Given the description of an element on the screen output the (x, y) to click on. 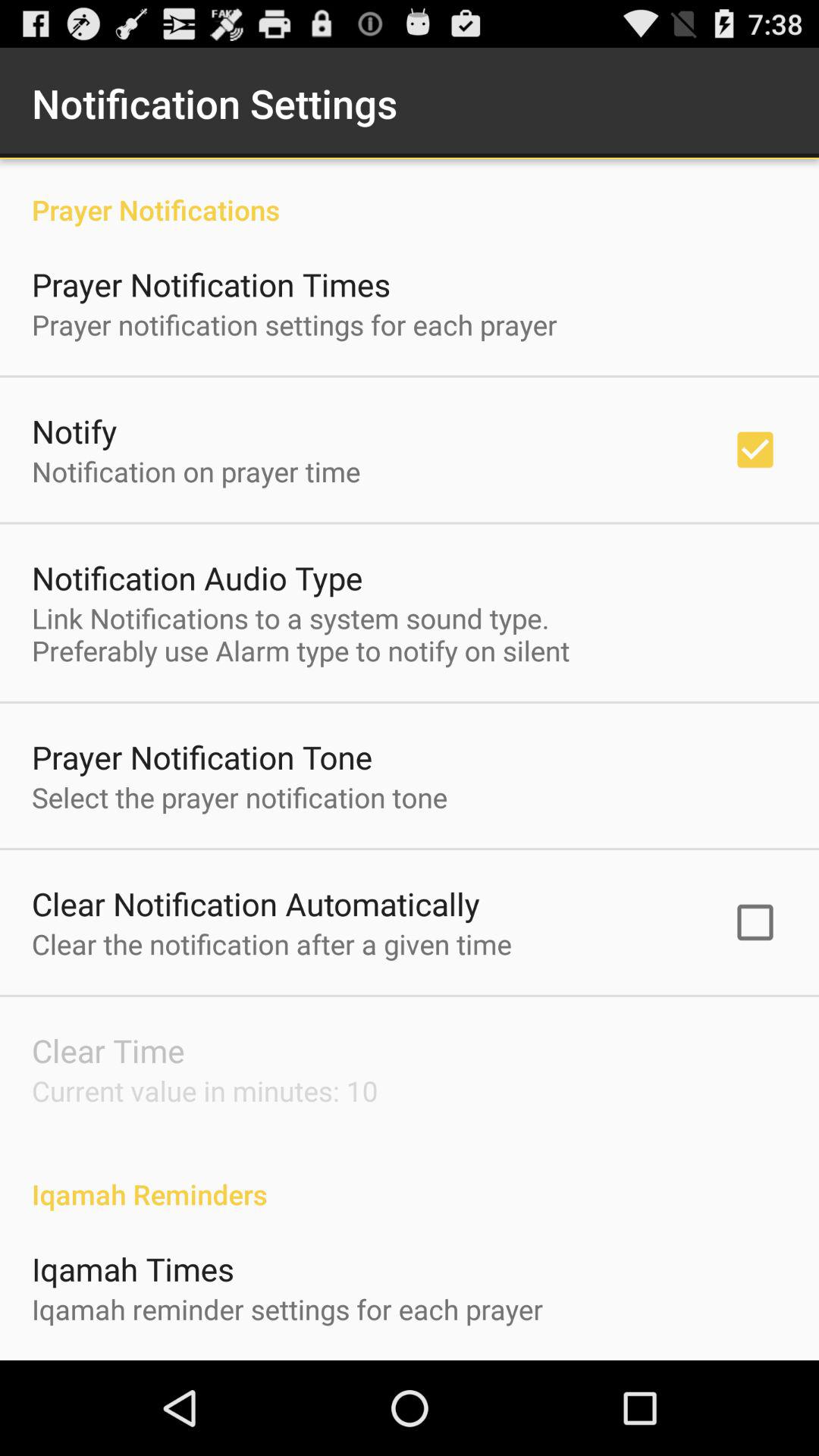
flip until the link notifications to app (300, 634)
